Given the description of an element on the screen output the (x, y) to click on. 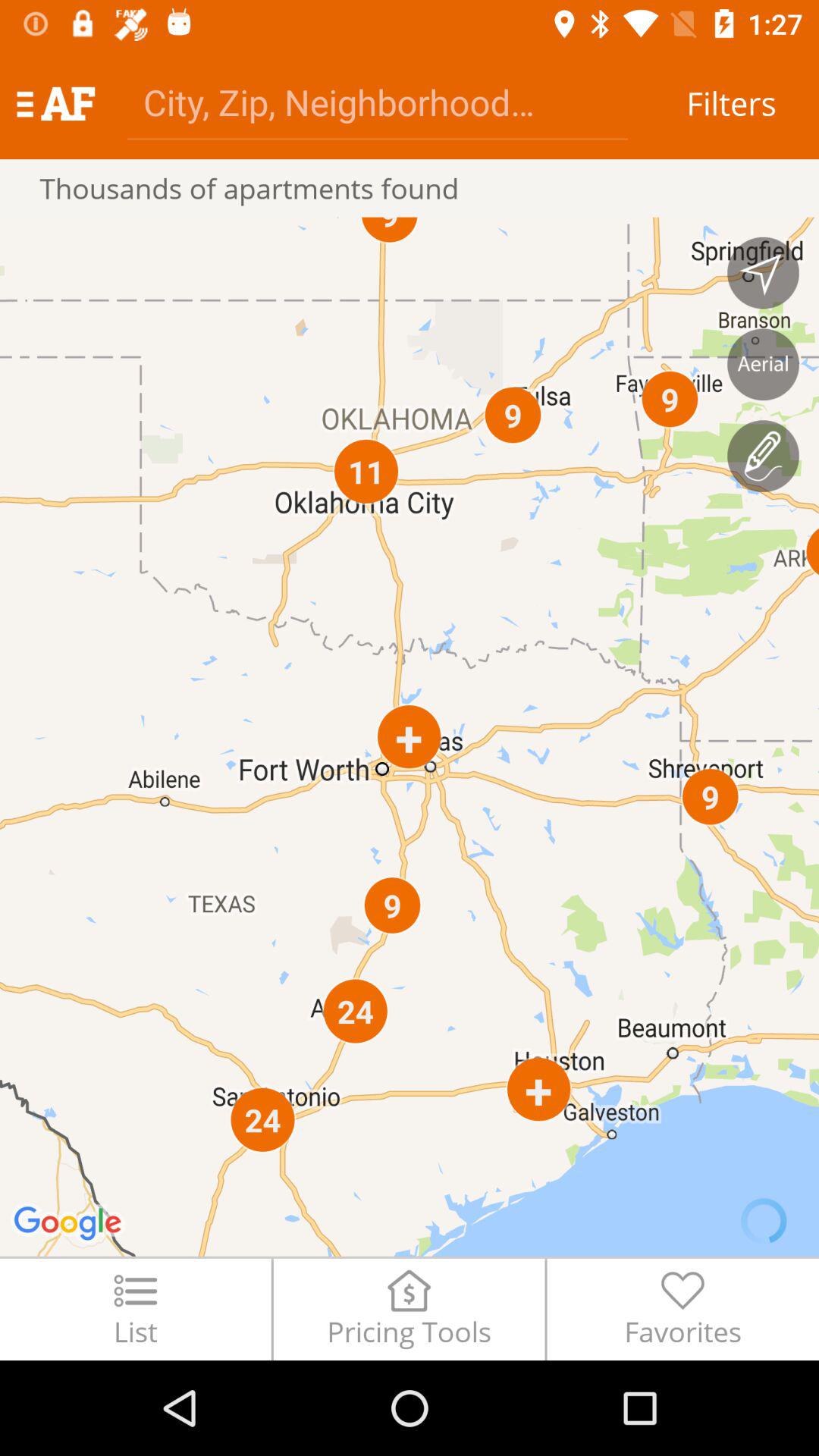
turn on the icon next to pricing tools icon (135, 1309)
